Given the description of an element on the screen output the (x, y) to click on. 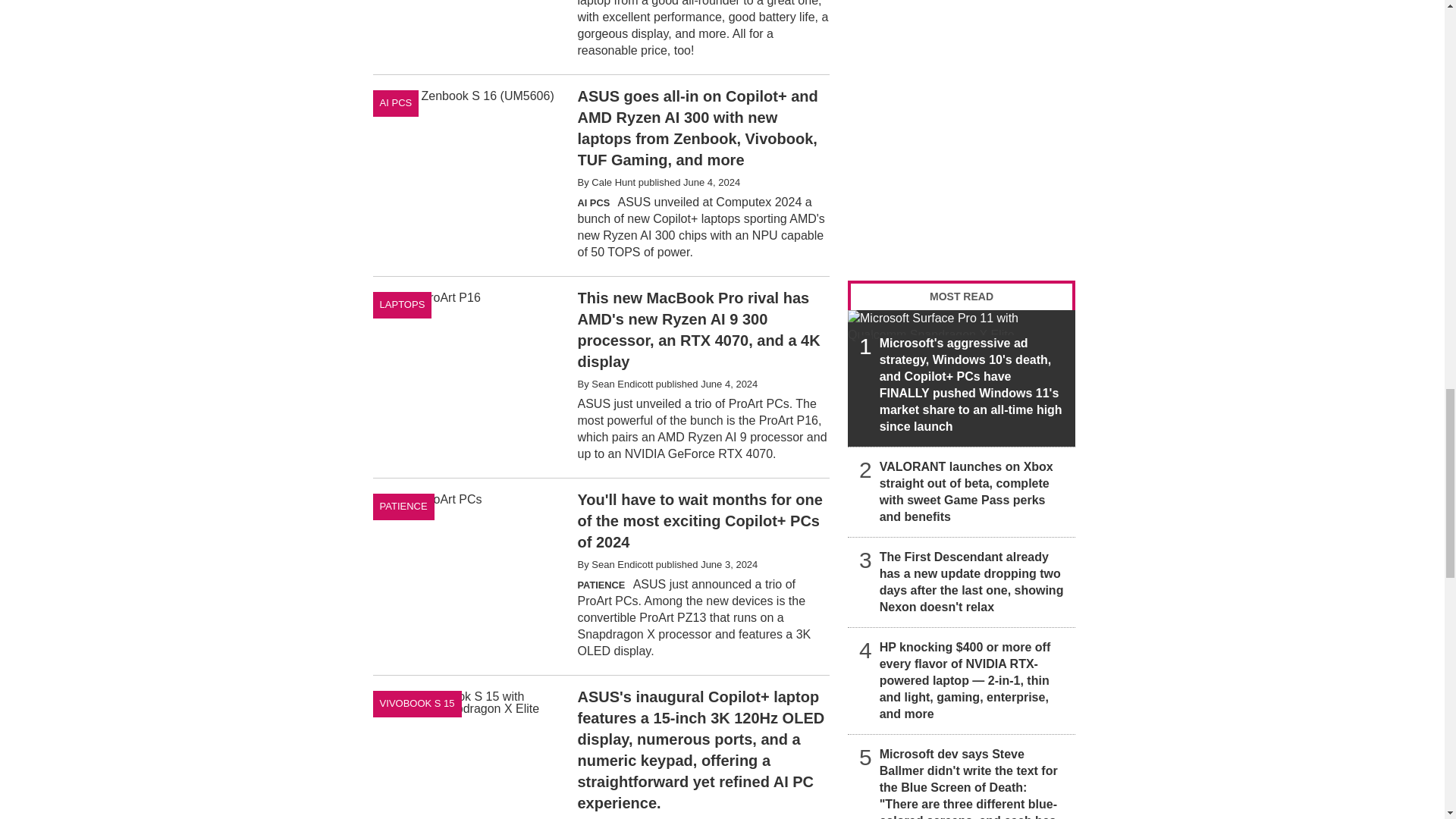
LAPTOPS (402, 304)
PATIENCE (402, 506)
AI PCS (395, 103)
